Given the description of an element on the screen output the (x, y) to click on. 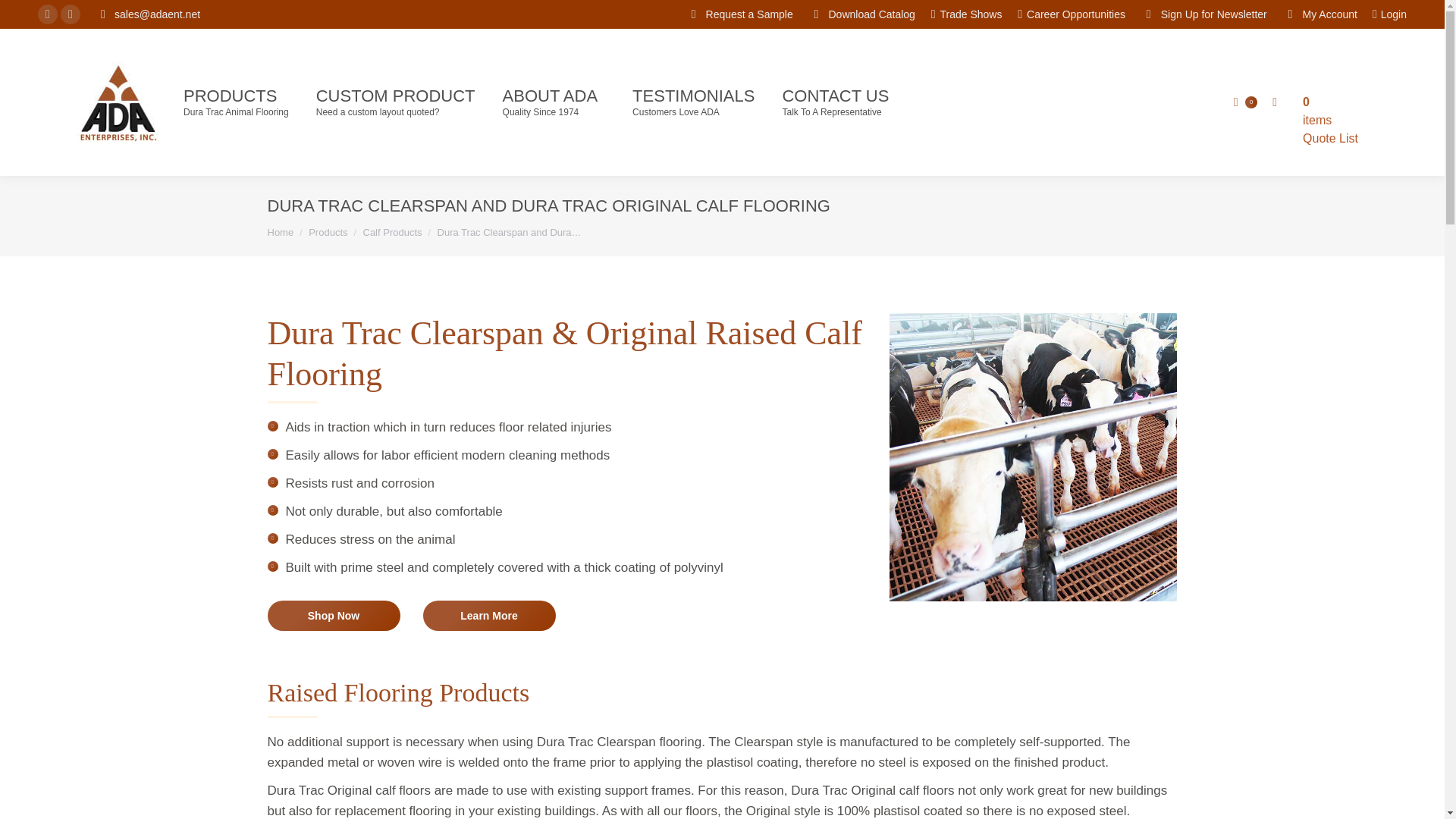
My Account (1319, 14)
Home (280, 232)
YouTube page opens in new window (70, 14)
Download Catalog (861, 14)
Trade Shows (967, 14)
Facebook page opens in new window (47, 14)
Career Opportunities (396, 102)
Calf Products (1071, 14)
